Given the description of an element on the screen output the (x, y) to click on. 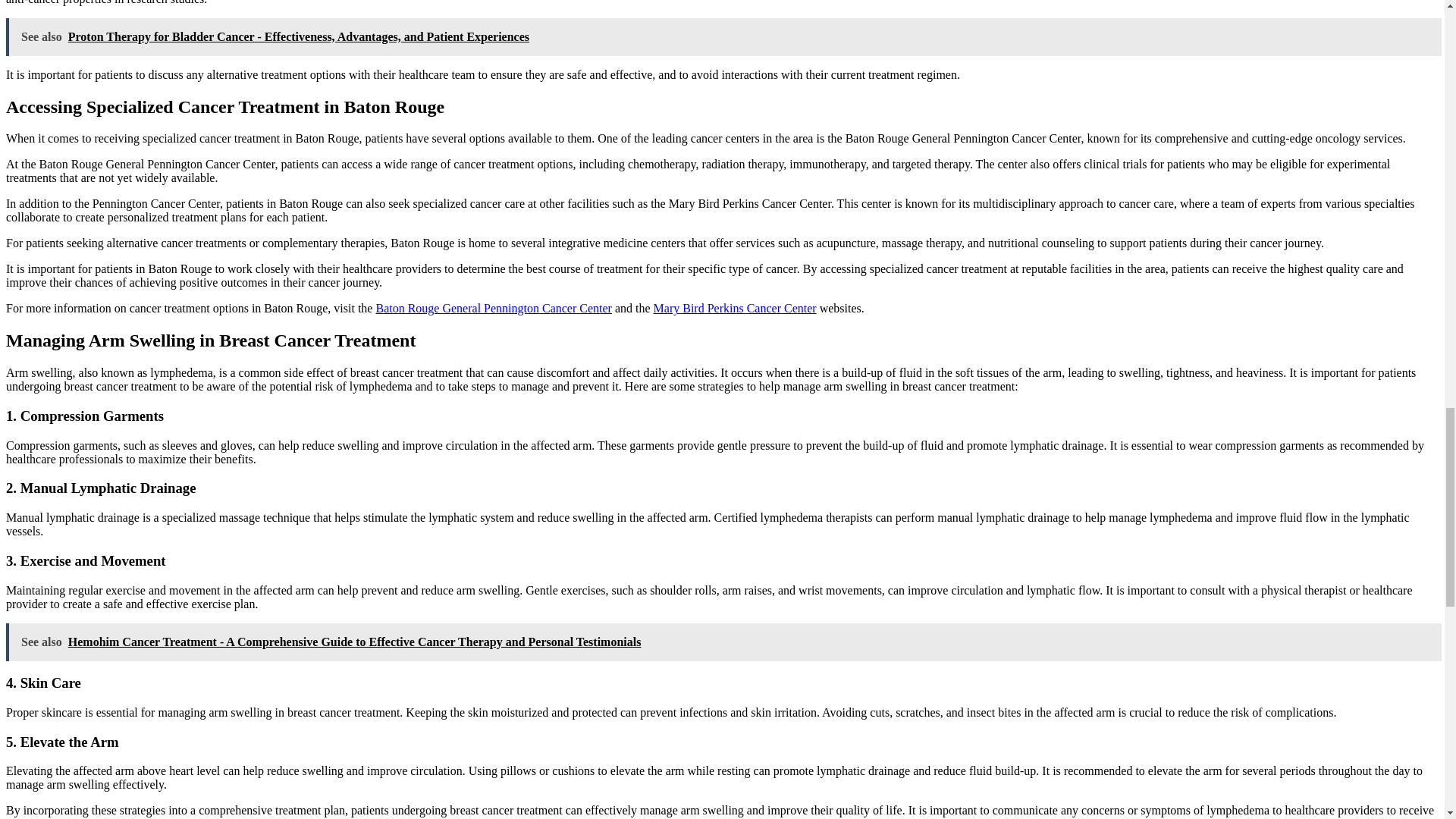
Baton Rouge General Pennington Cancer Center (493, 308)
Mary Bird Perkins Cancer Center (734, 308)
